Given the description of an element on the screen output the (x, y) to click on. 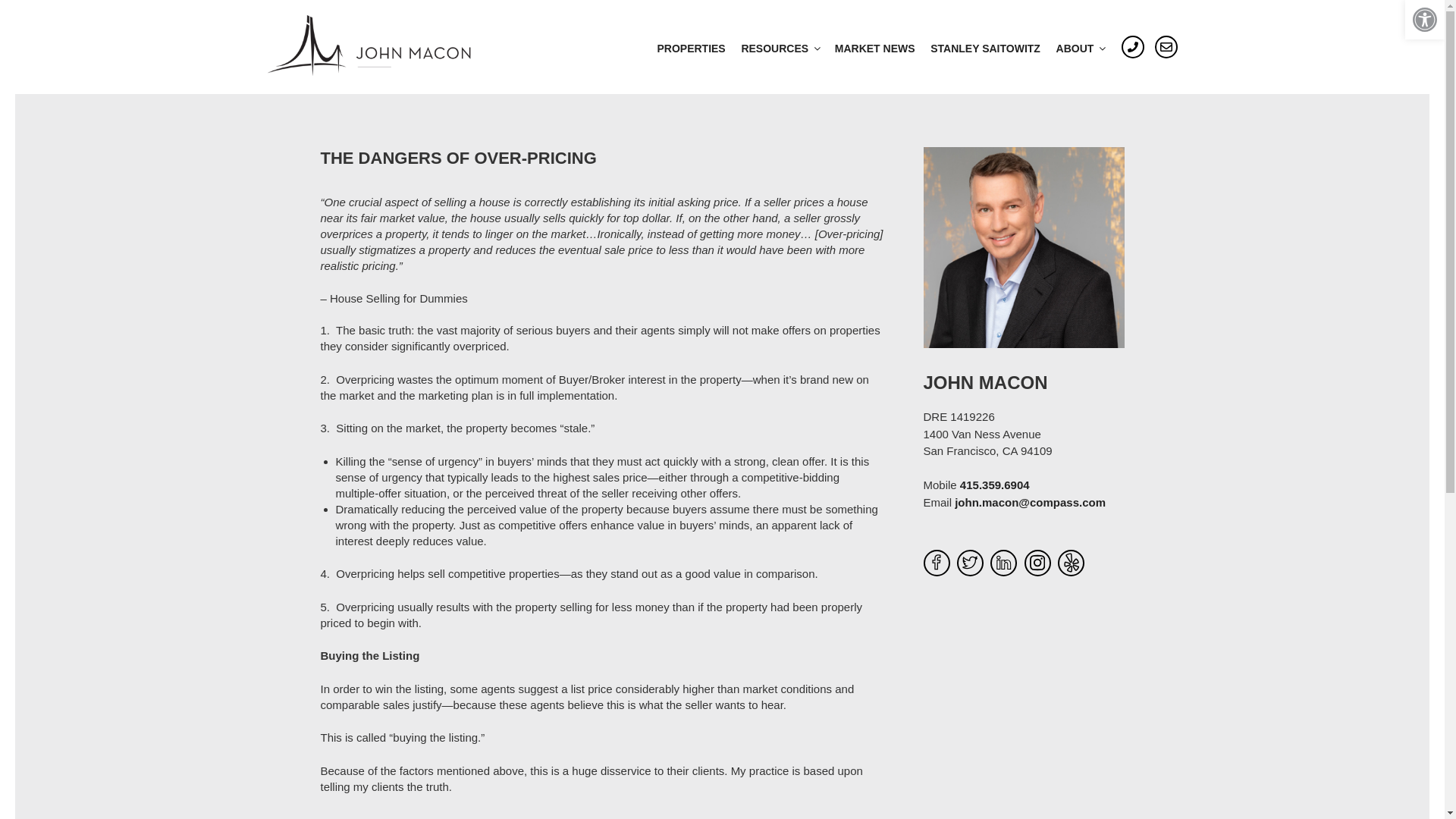
STANLEY SAITOWITZ (985, 48)
PHONE (1132, 47)
MARKET NEWS (874, 48)
415.359.6904 (994, 484)
EMAIL (1165, 47)
PROPERTIES (691, 48)
Accessibility Tools (1424, 19)
ABOUT (1079, 48)
RESOURCES (780, 48)
